Given the description of an element on the screen output the (x, y) to click on. 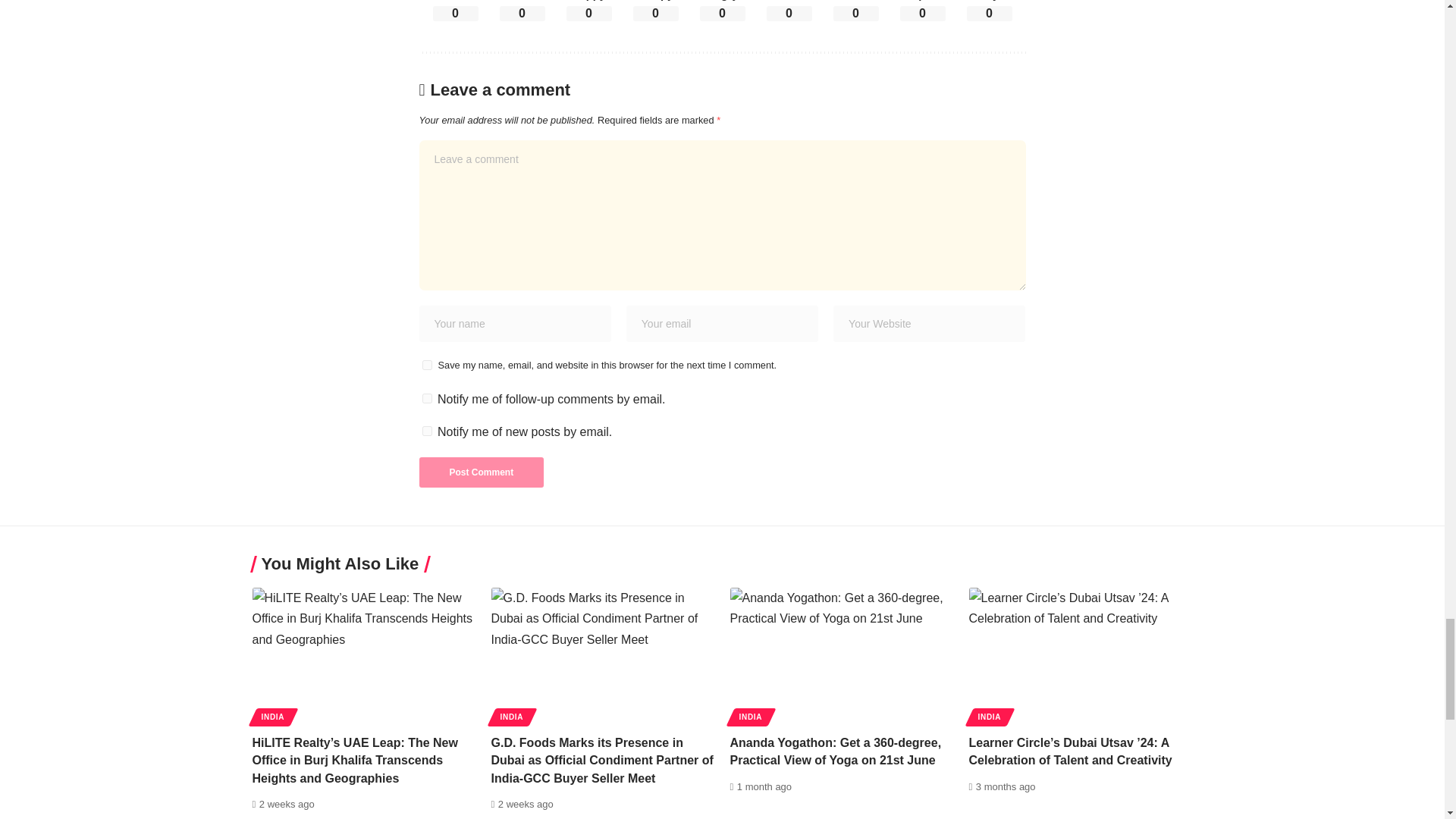
yes (426, 365)
subscribe (426, 398)
subscribe (426, 430)
Post Comment (481, 472)
